Given the description of an element on the screen output the (x, y) to click on. 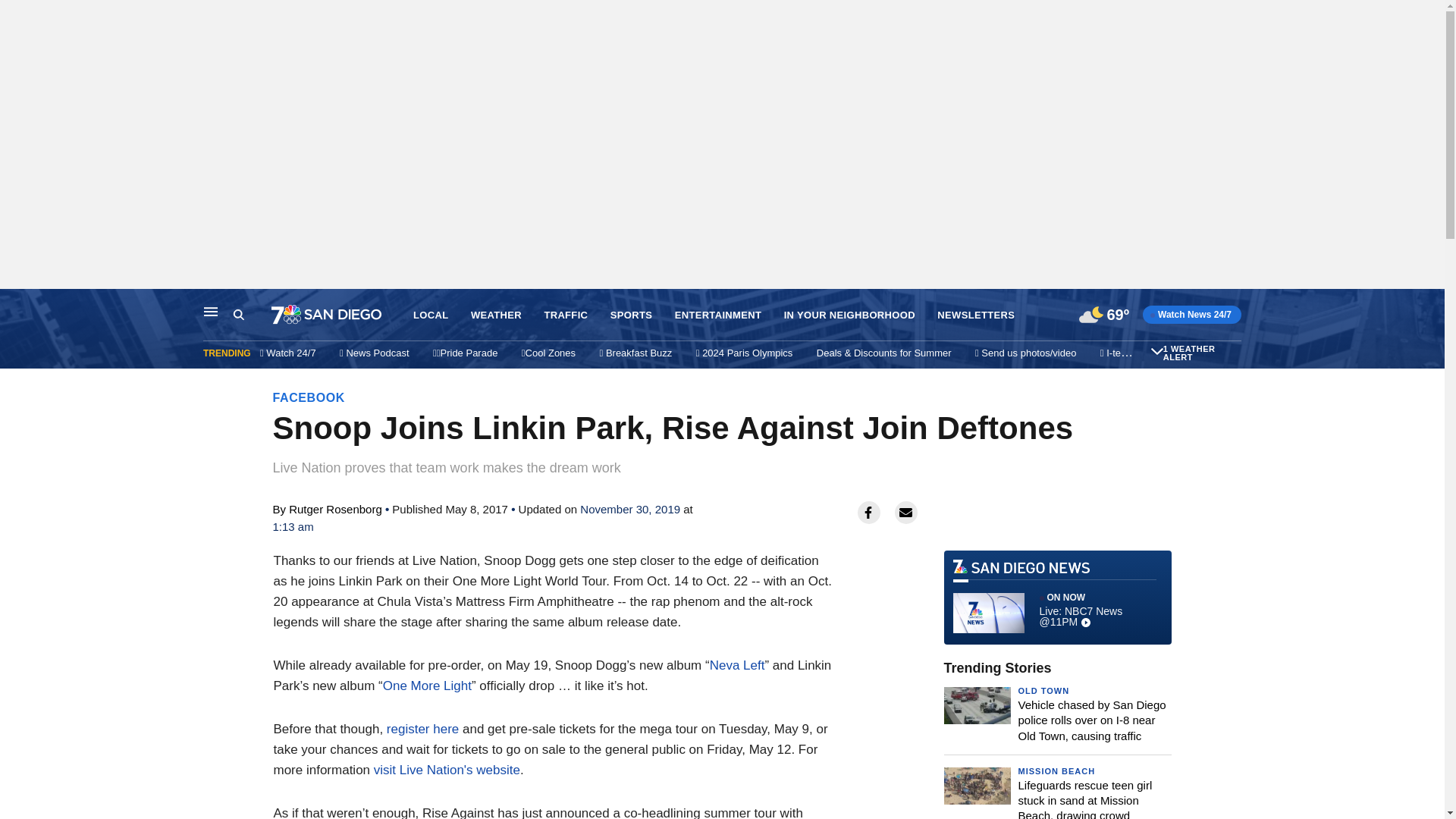
NEWSLETTERS (975, 315)
Expand (1157, 350)
One More Light (426, 685)
LOCAL (430, 315)
ENTERTAINMENT (718, 315)
WEATHER (495, 315)
SPORTS (631, 315)
Skip to content (16, 304)
IN YOUR NEIGHBORHOOD (849, 315)
Main Navigation (210, 311)
register here (422, 728)
Search (238, 314)
visit Live Nation's website (446, 769)
Search (252, 314)
Neva Left (737, 665)
